Given the description of an element on the screen output the (x, y) to click on. 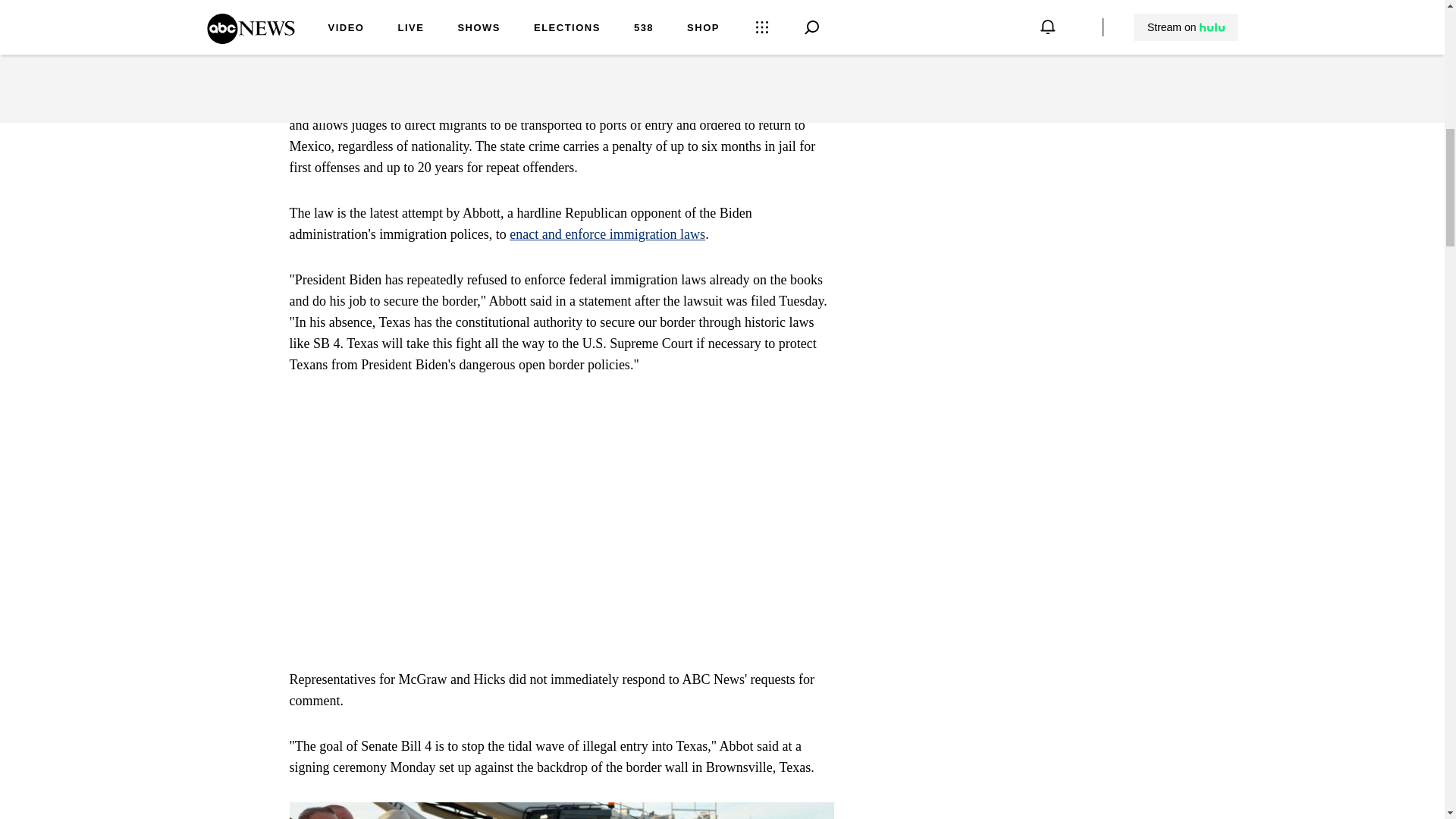
enact and enforce immigration laws (606, 233)
